Given the description of an element on the screen output the (x, y) to click on. 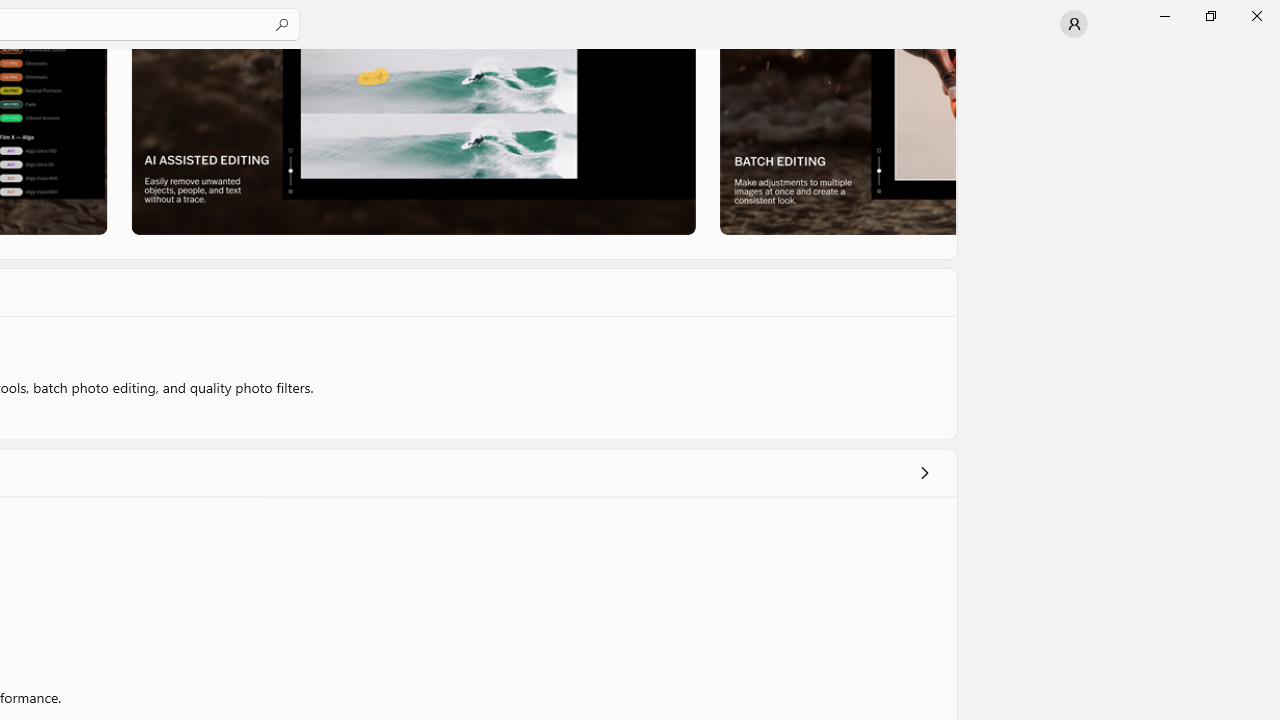
Show all ratings and reviews (924, 471)
Screenshot 2 (412, 141)
Screenshot 3 (836, 141)
